Given the description of an element on the screen output the (x, y) to click on. 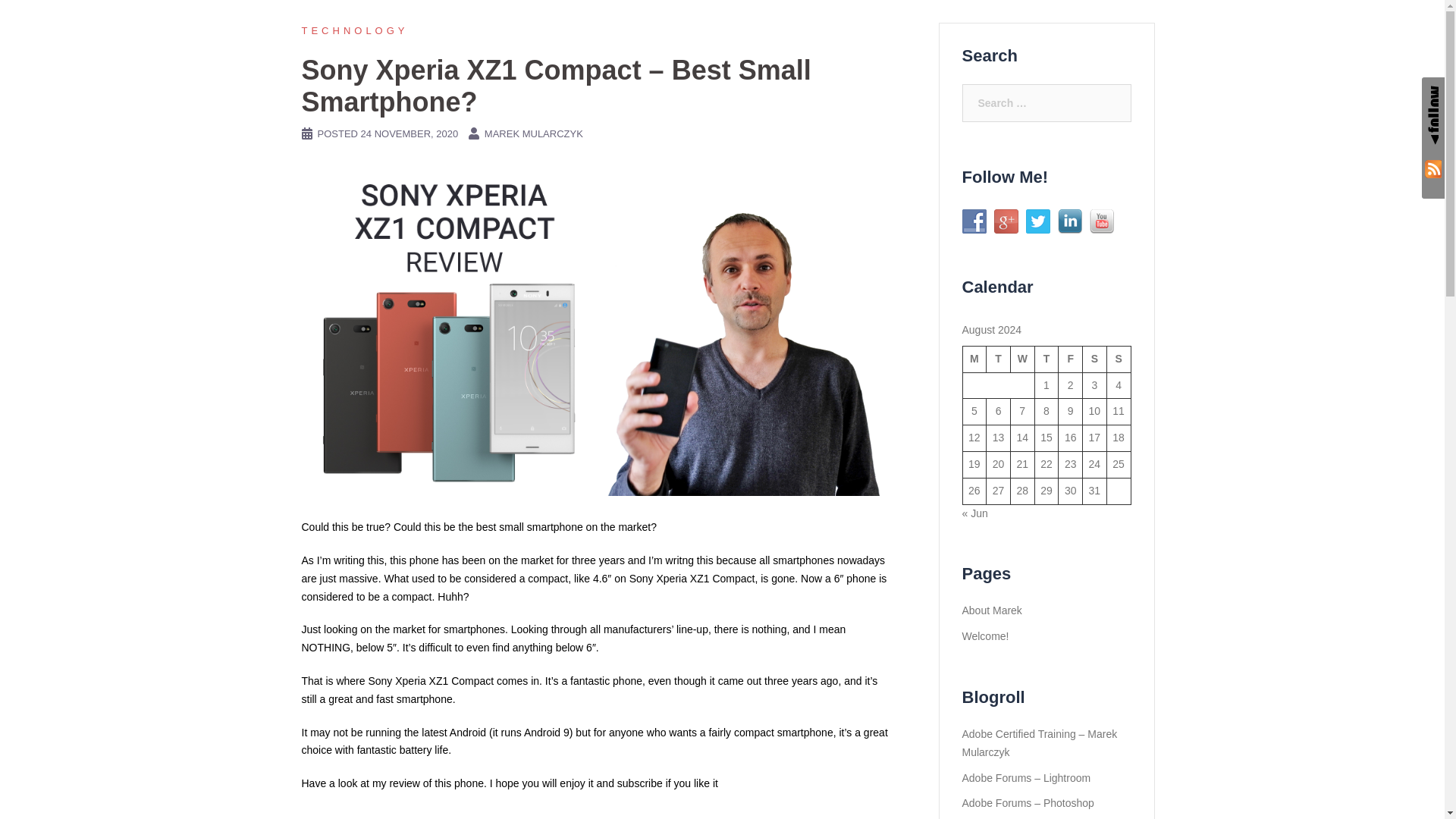
Friday (1070, 358)
Monday (974, 358)
24 NOVEMBER, 2020 (409, 133)
Follow Me on YouTube (1101, 221)
Tuesday (998, 358)
Wednesday (1021, 358)
Technology (355, 30)
PhotoVideoBeat (500, 29)
MAREK MULARCZYK (533, 133)
Follow Me on LinkedIn (1069, 221)
